Given the description of an element on the screen output the (x, y) to click on. 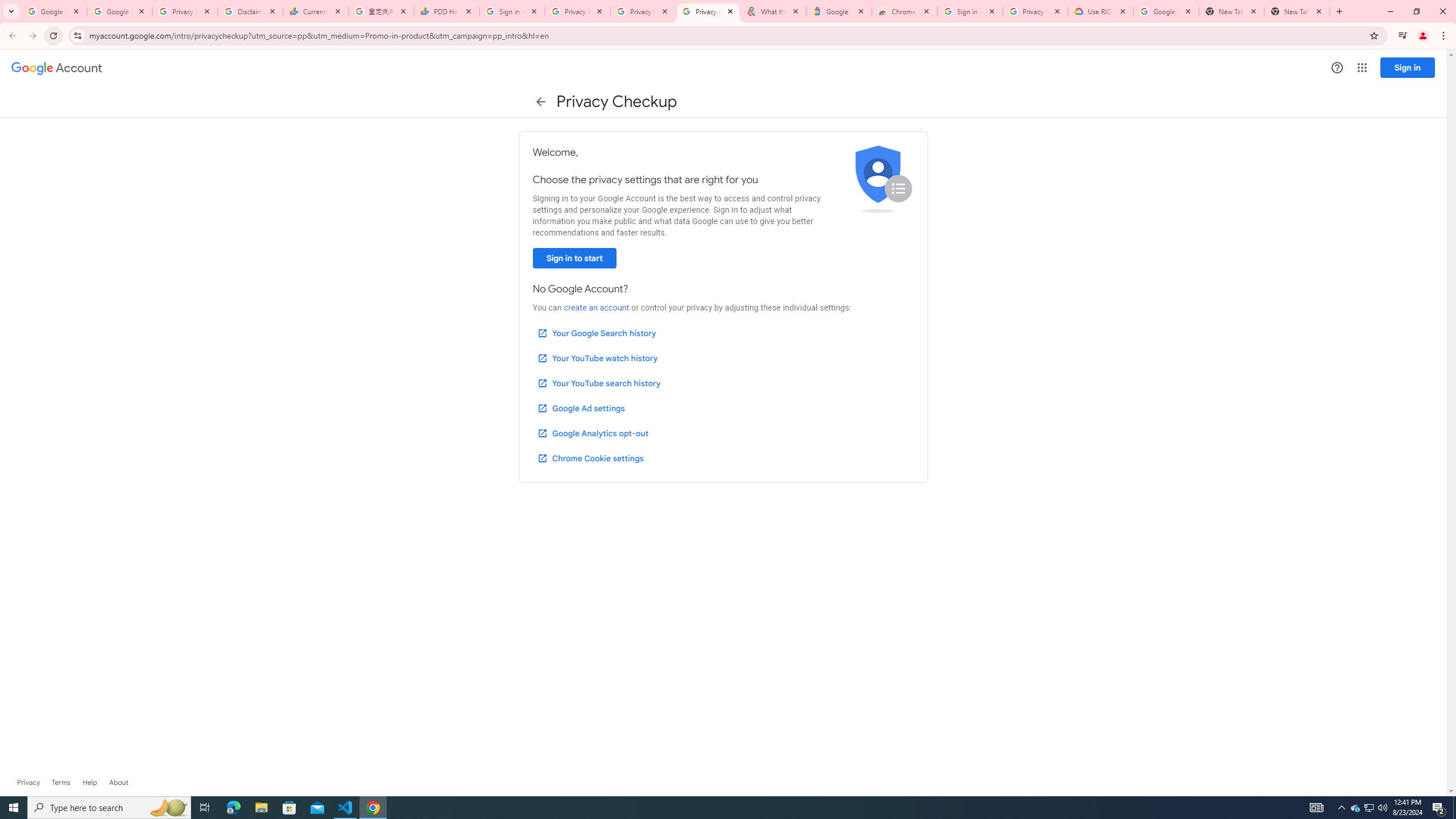
Terms (61, 782)
New Tab (1297, 11)
create an account (595, 307)
Help (1336, 67)
Address and search bar (725, 35)
Help (89, 782)
Your Google Search history (596, 332)
Privacy Checkup (708, 11)
Google Workspace Admin Community (53, 11)
Google (838, 11)
